Given the description of an element on the screen output the (x, y) to click on. 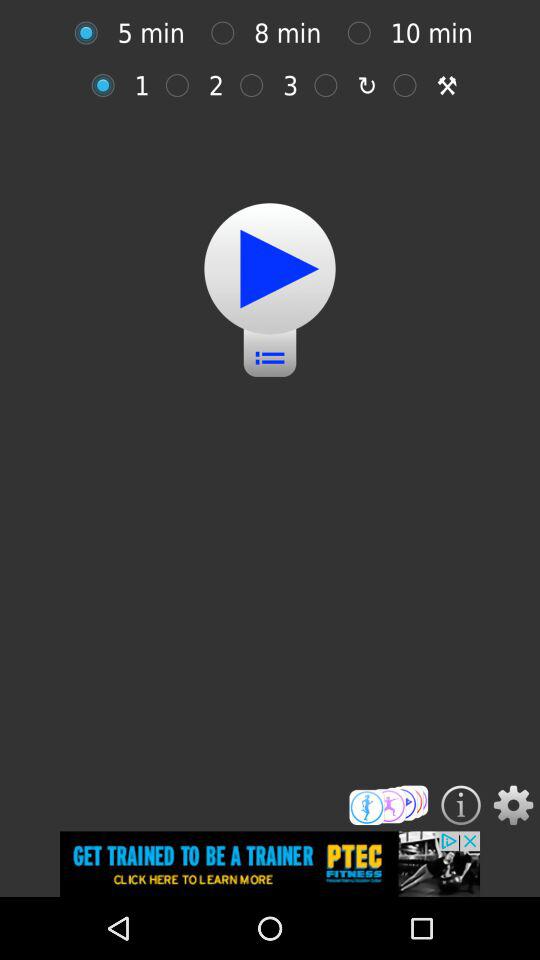
select one (108, 85)
